Given the description of an element on the screen output the (x, y) to click on. 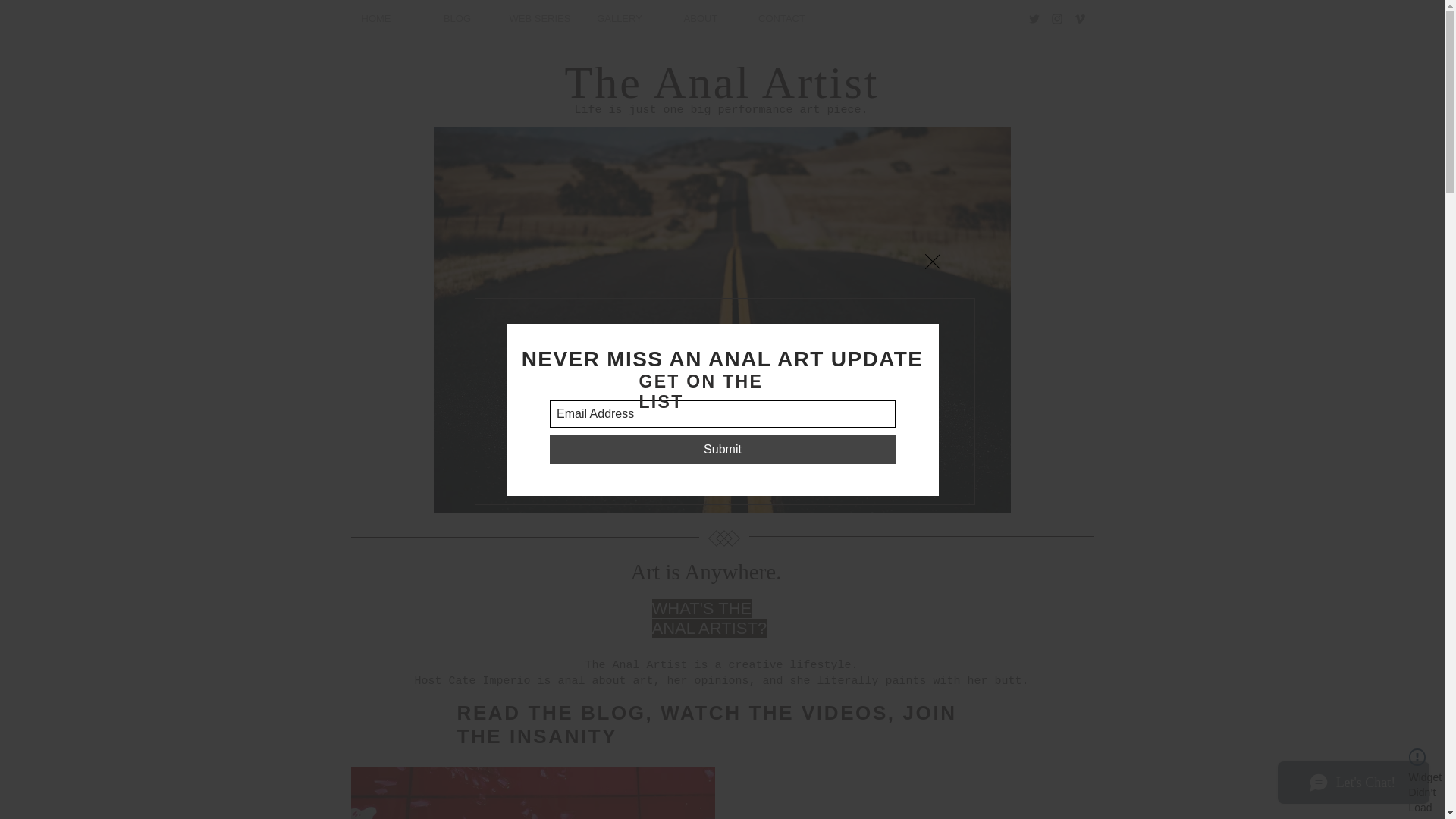
HOME (375, 18)
CONTACT (781, 18)
Site Search (967, 18)
Back to site (932, 260)
BLOG (456, 18)
GALLERY (620, 18)
The Anal Artist (721, 82)
Wix Get Subscribers (722, 421)
